Given the description of an element on the screen output the (x, y) to click on. 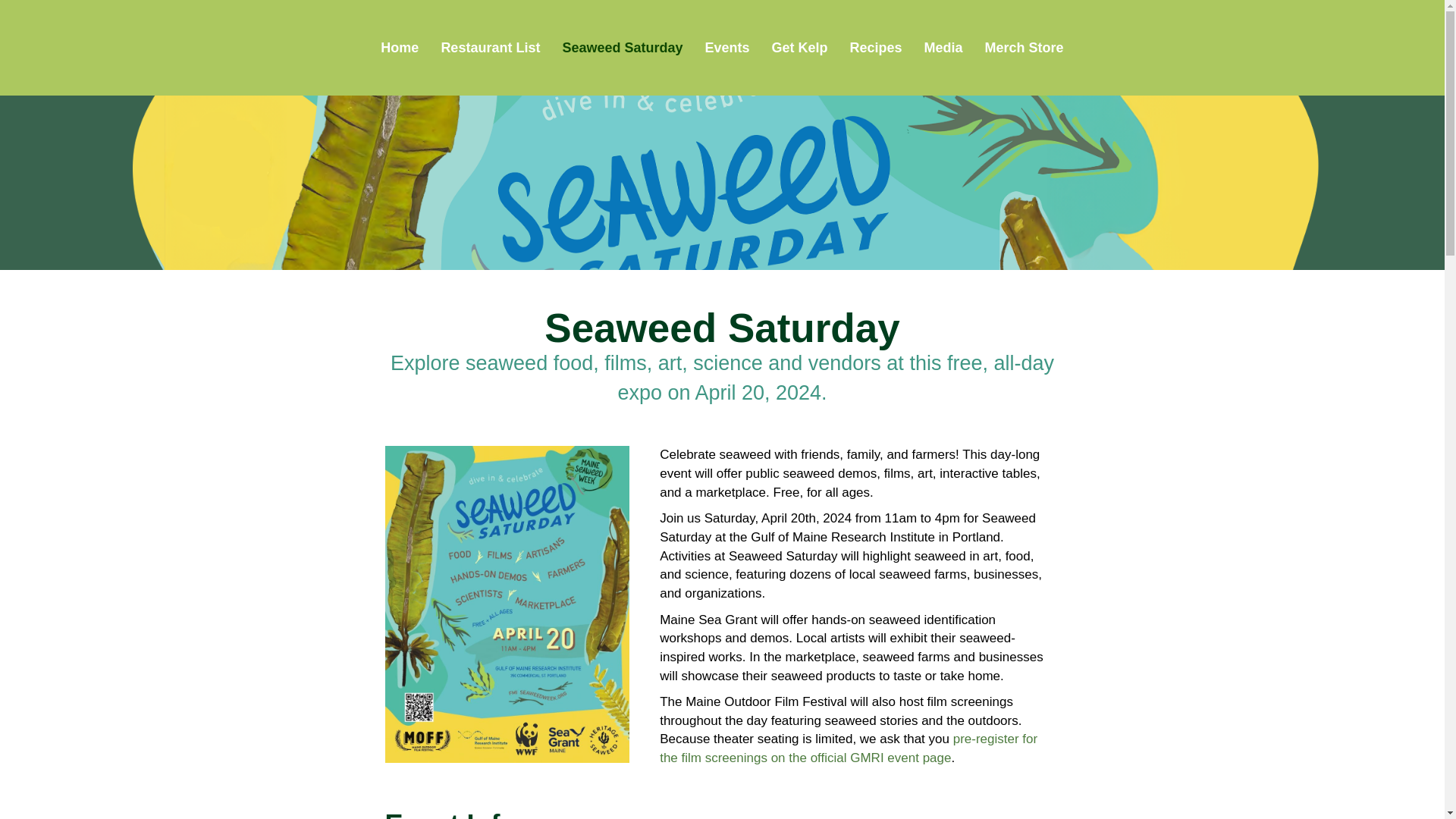
Media (944, 47)
Seaweed Saturday (622, 47)
Merch Store (1024, 47)
Recipes (876, 47)
Restaurant List (489, 47)
Get Kelp (799, 47)
Home (399, 47)
Events (727, 47)
